Given the description of an element on the screen output the (x, y) to click on. 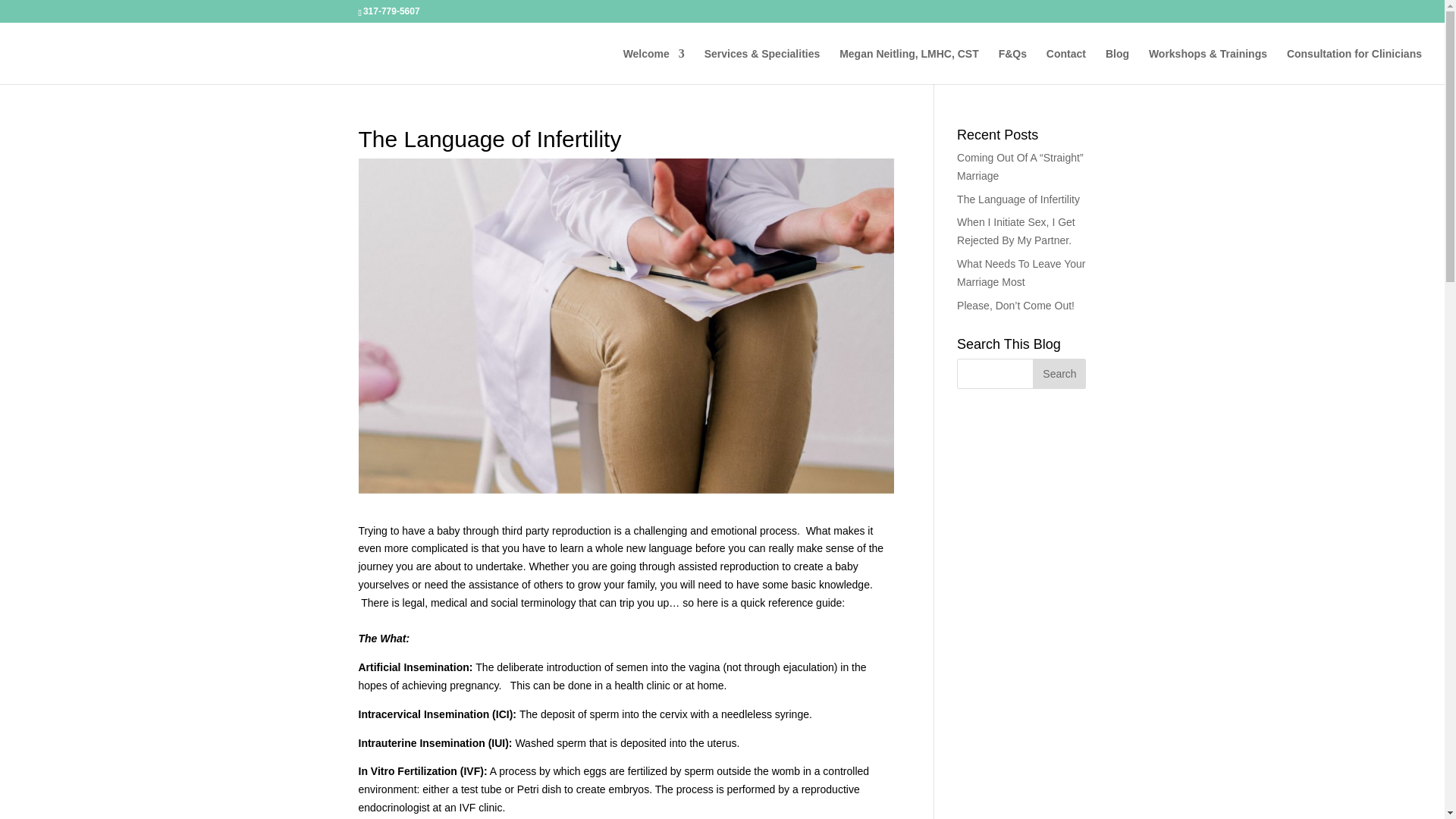
Contact (1066, 66)
Welcome (653, 66)
Megan Neitling, LMHC, CST (909, 66)
What Needs To Leave Your Marriage Most (1020, 272)
Search (1059, 373)
The Language of Infertility (1018, 199)
When I Initiate Sex, I Get Rejected By My Partner. (1015, 231)
Search (1059, 373)
Consultation for Clinicians (1354, 66)
Blog (1117, 66)
